Given the description of an element on the screen output the (x, y) to click on. 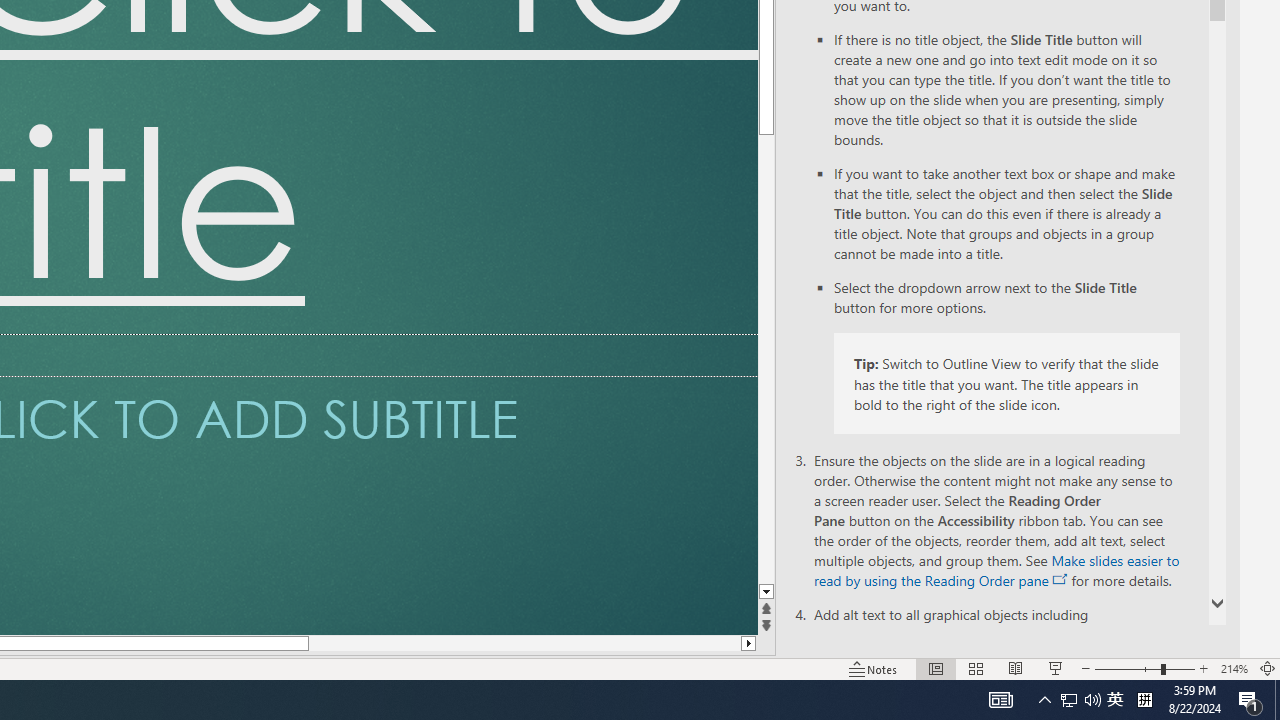
Zoom 214% (1234, 668)
openinnewwindow (1060, 579)
